Given the description of an element on the screen output the (x, y) to click on. 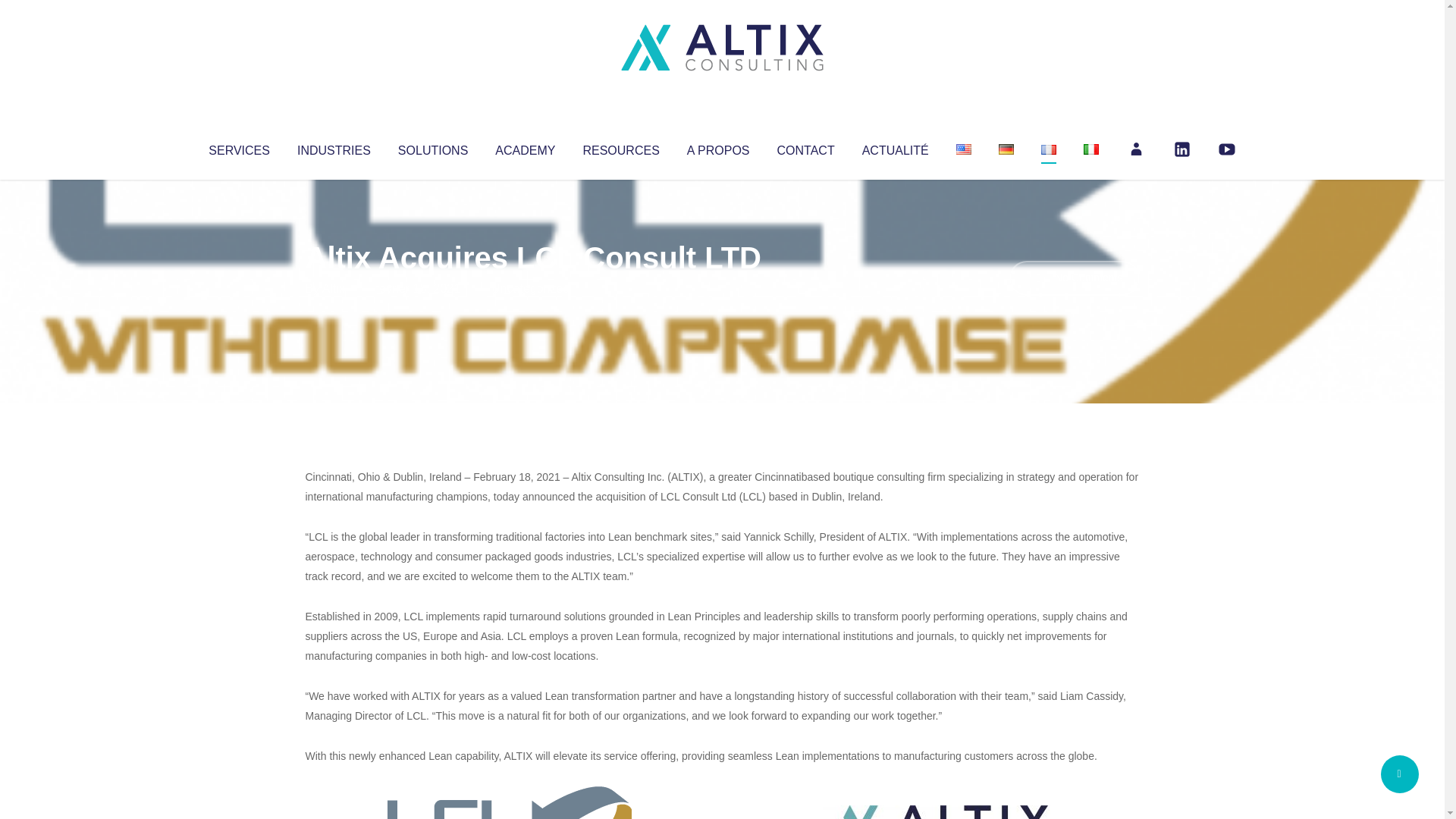
A PROPOS (718, 146)
SERVICES (238, 146)
Articles par Altix (333, 287)
SOLUTIONS (432, 146)
Altix (333, 287)
ACADEMY (524, 146)
RESOURCES (620, 146)
INDUSTRIES (334, 146)
No Comments (1073, 278)
Uncategorized (530, 287)
